Given the description of an element on the screen output the (x, y) to click on. 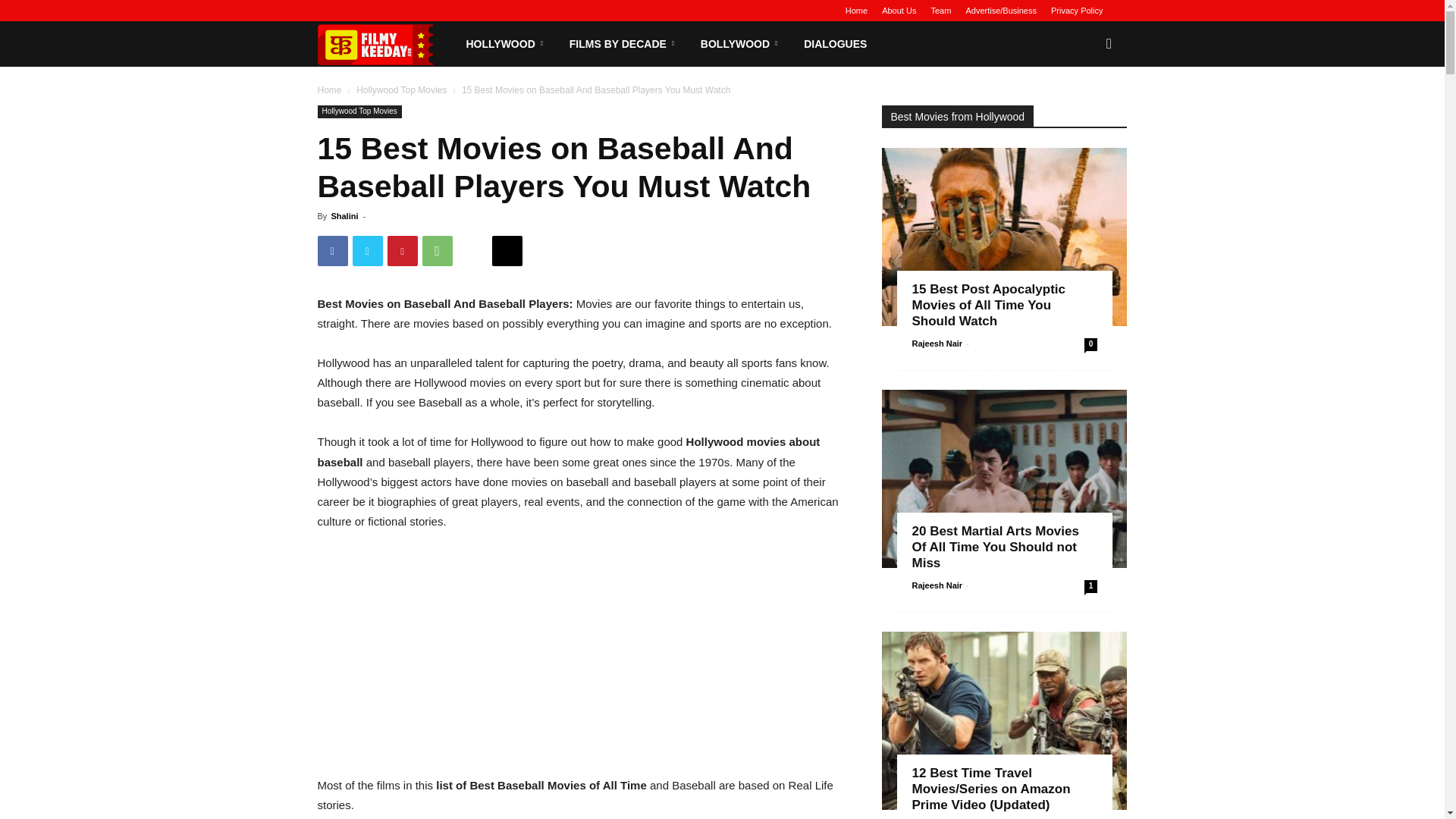
Filmy Keeday (385, 44)
ReddIt (471, 250)
HOLLYWOOD (505, 43)
About Us (898, 10)
Facebook (332, 250)
Pinterest (401, 250)
Twitter (366, 250)
View all posts in Hollywood Top Movies (401, 90)
Privacy Policy (1076, 10)
Home (856, 10)
Copy URL (506, 250)
Filmy Keeday (378, 44)
WhatsApp (436, 250)
Team (940, 10)
